Given the description of an element on the screen output the (x, y) to click on. 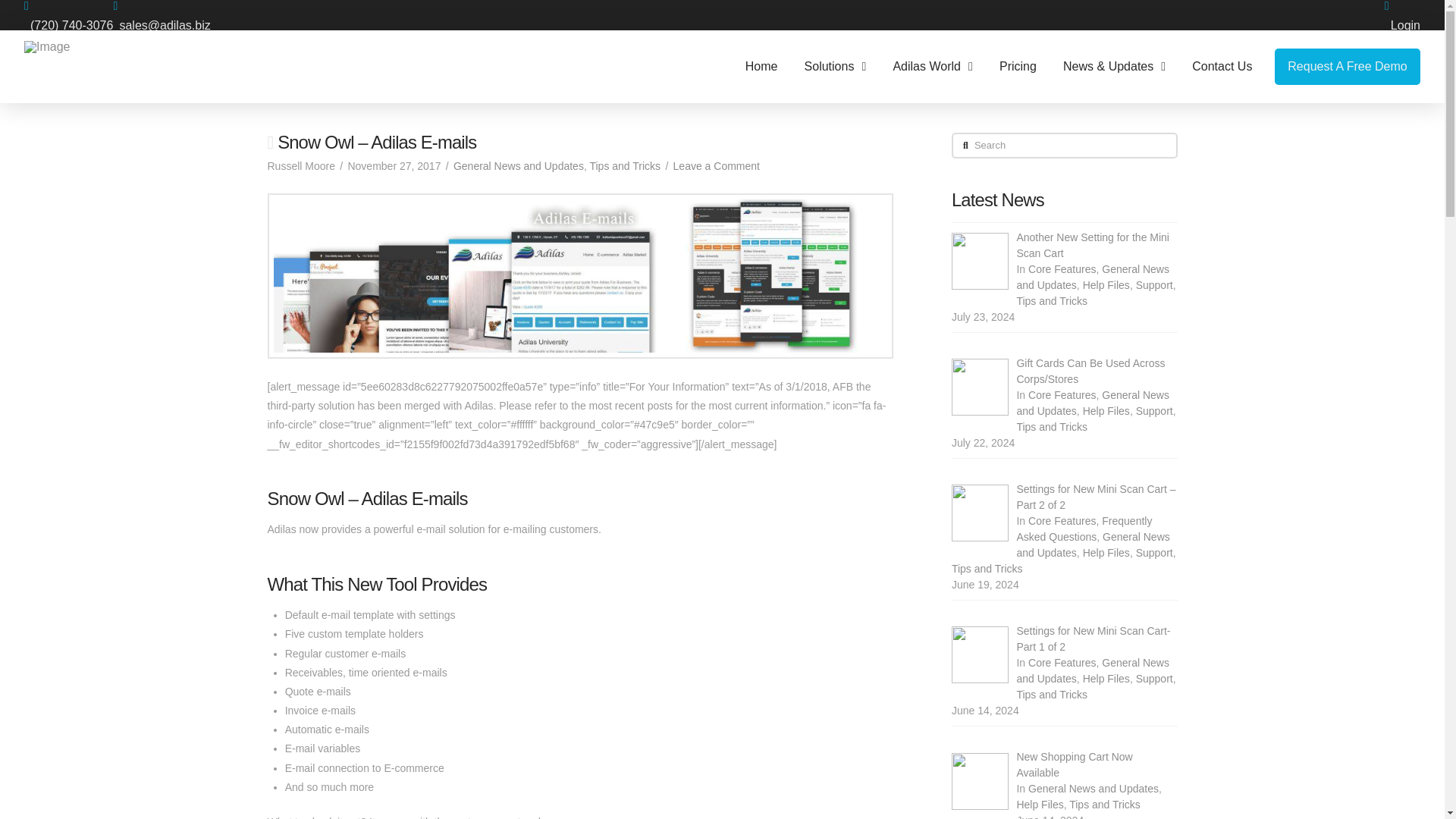
Contact Us (1222, 66)
General News and Updates (1092, 544)
Support (1154, 678)
Another New Setting for the Mini Scan Cart (1092, 244)
Pricing (1017, 66)
General News and Updates (1092, 276)
Settings for New Mini Scan Cart-Part 1 of 2 (1093, 638)
Tips and Tricks (1051, 300)
Tips and Tricks (1051, 426)
Support (1154, 410)
Frequently Asked Questions (1083, 528)
General News and Updates (1092, 670)
Help Files (1106, 552)
Leave a Comment (716, 165)
Help Files (1106, 410)
